Given the description of an element on the screen output the (x, y) to click on. 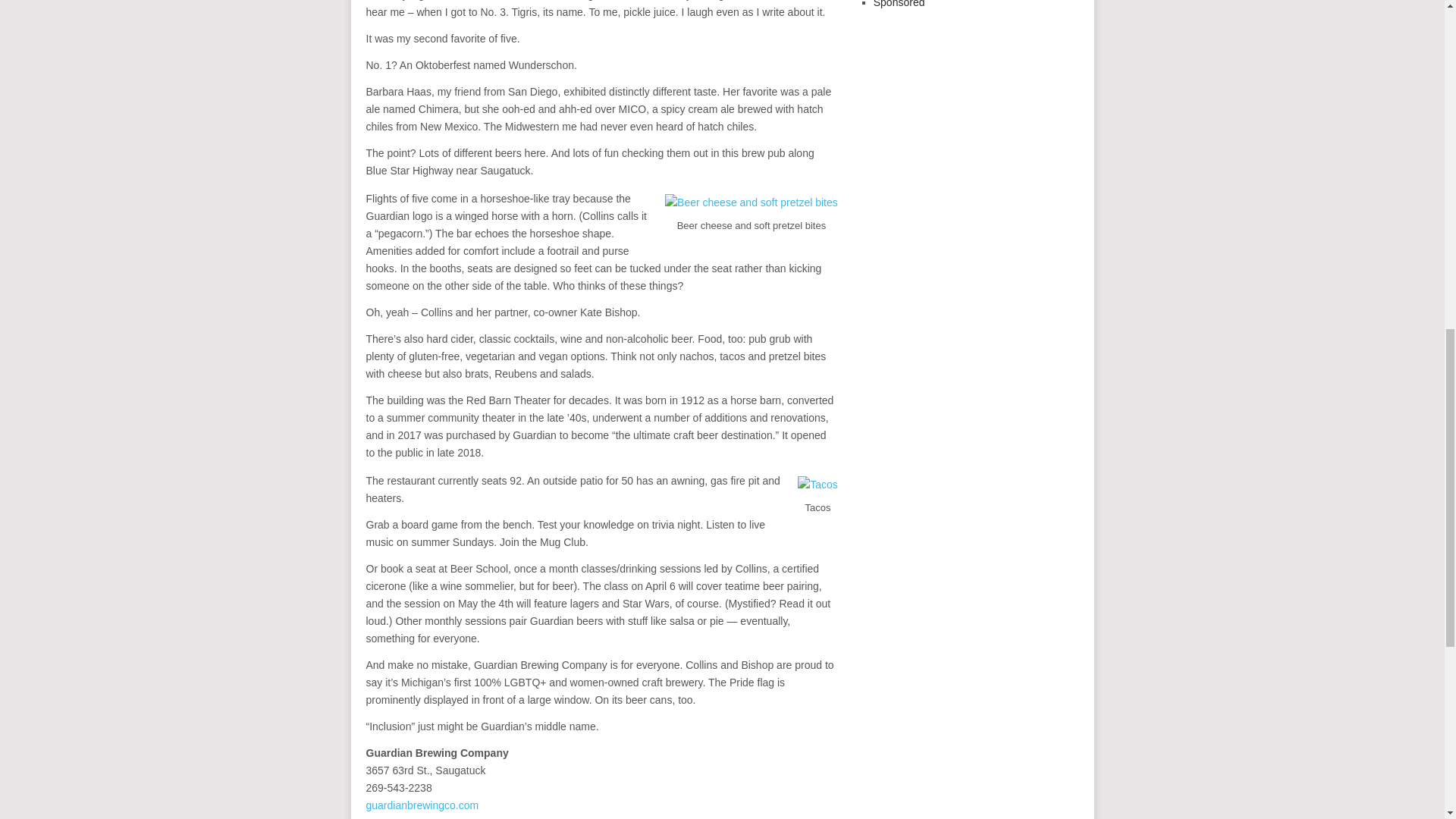
guardianbrewingco.com (422, 805)
